Given the description of an element on the screen output the (x, y) to click on. 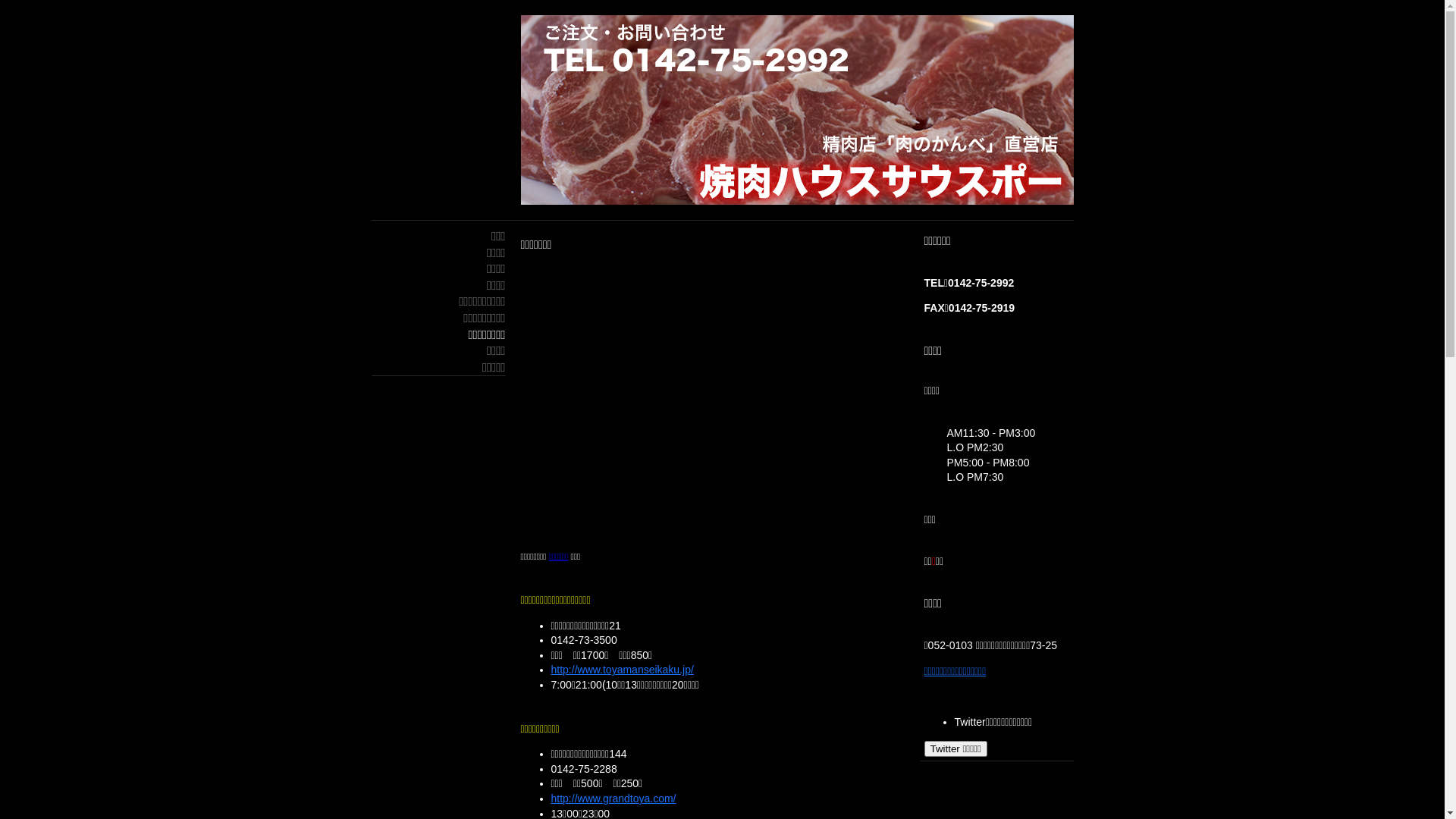
http://www.toyamanseikaku.jp/ Element type: text (621, 669)
http://www.grandtoya.com/ Element type: text (612, 798)
